Given the description of an element on the screen output the (x, y) to click on. 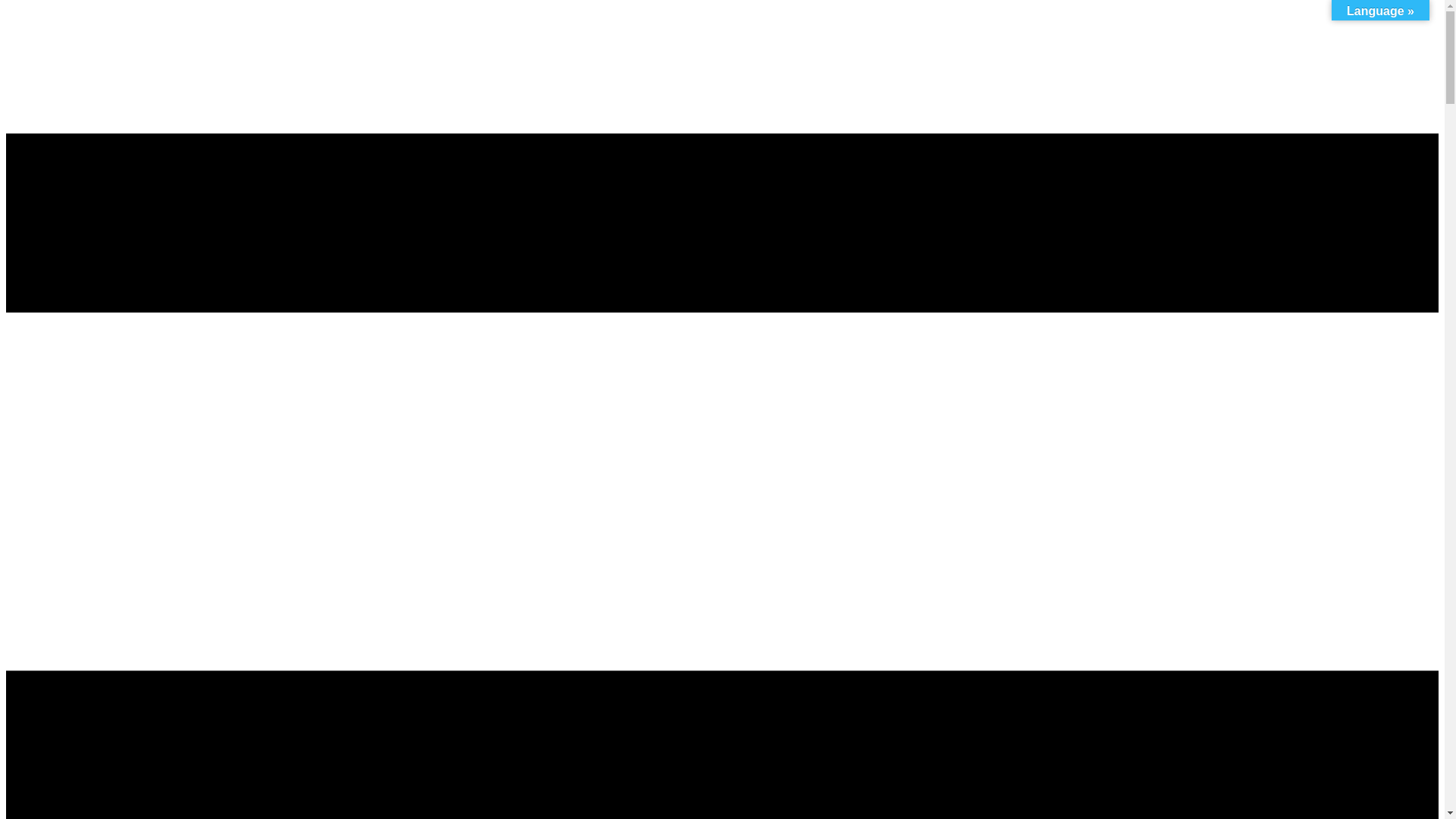
Skip to content Element type: text (5, 43)
